Given the description of an element on the screen output the (x, y) to click on. 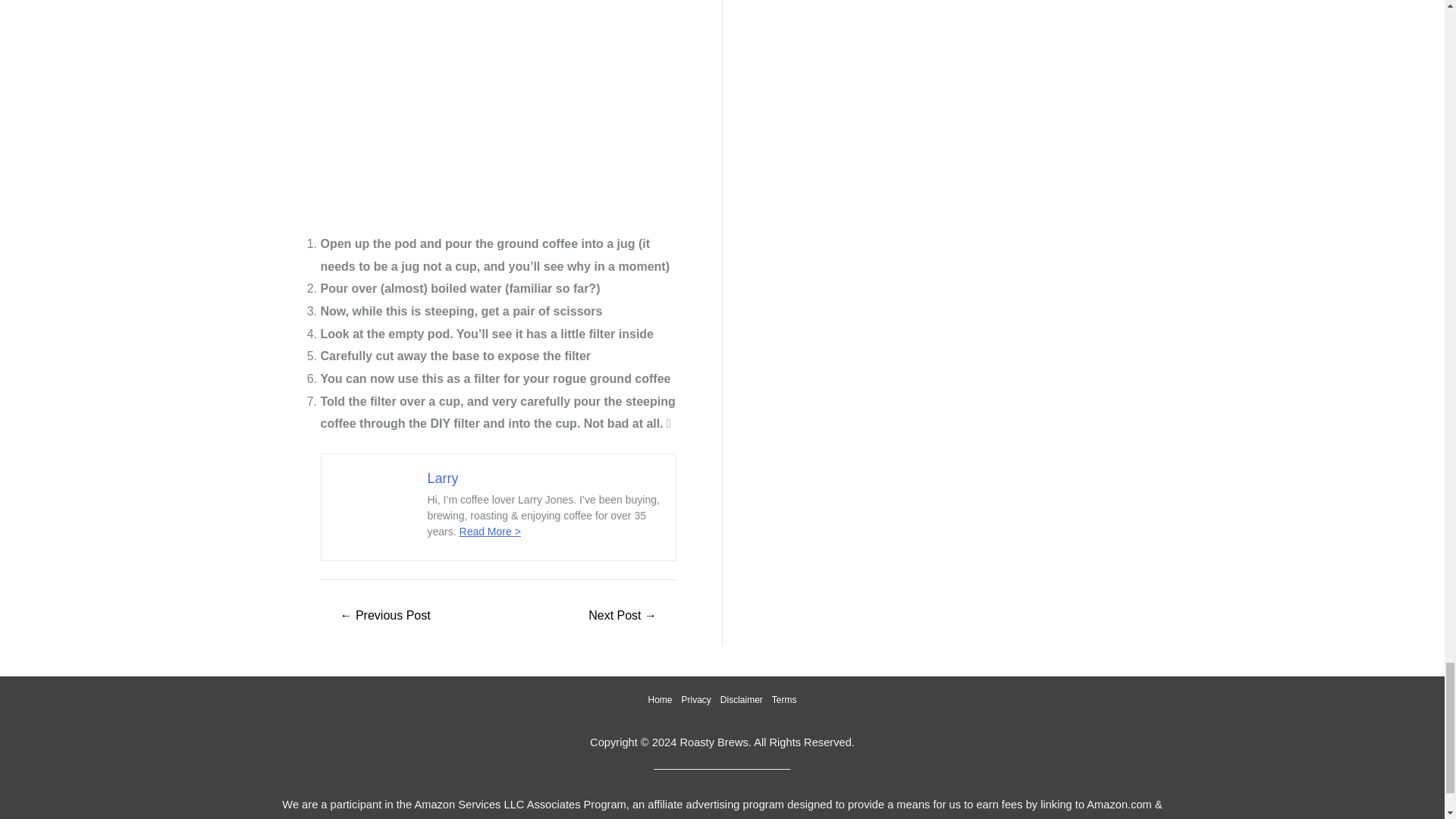
Larry (443, 478)
Terms (781, 699)
Home (662, 699)
Privacy (695, 699)
Disclaimer (741, 699)
